Given the description of an element on the screen output the (x, y) to click on. 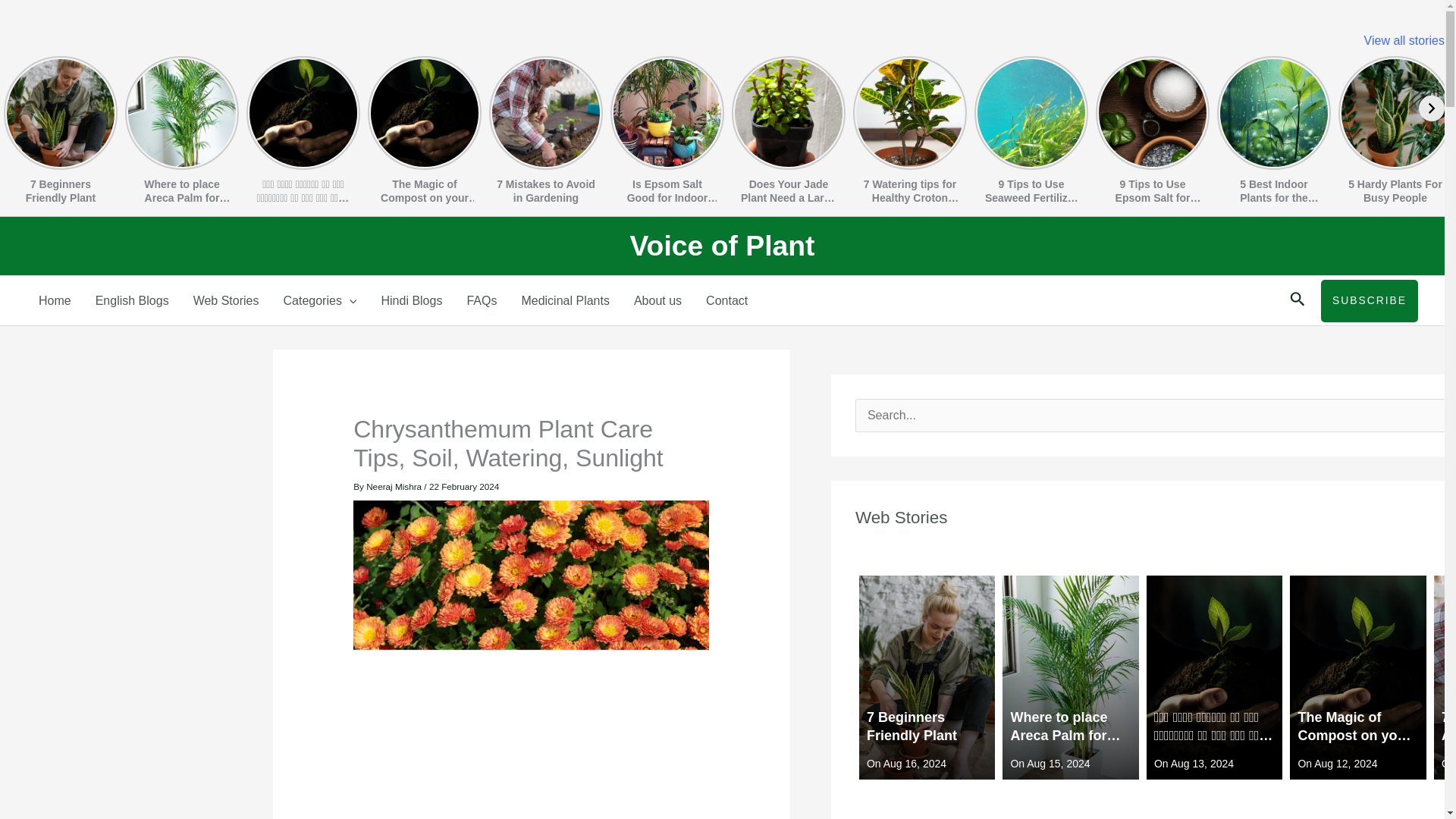
Categories (319, 300)
View all stories (1404, 40)
Voice of Plant (720, 245)
English Blogs (131, 300)
Web Stories (225, 300)
View all posts by Neeraj Mishra (394, 486)
Home (54, 300)
